Given the description of an element on the screen output the (x, y) to click on. 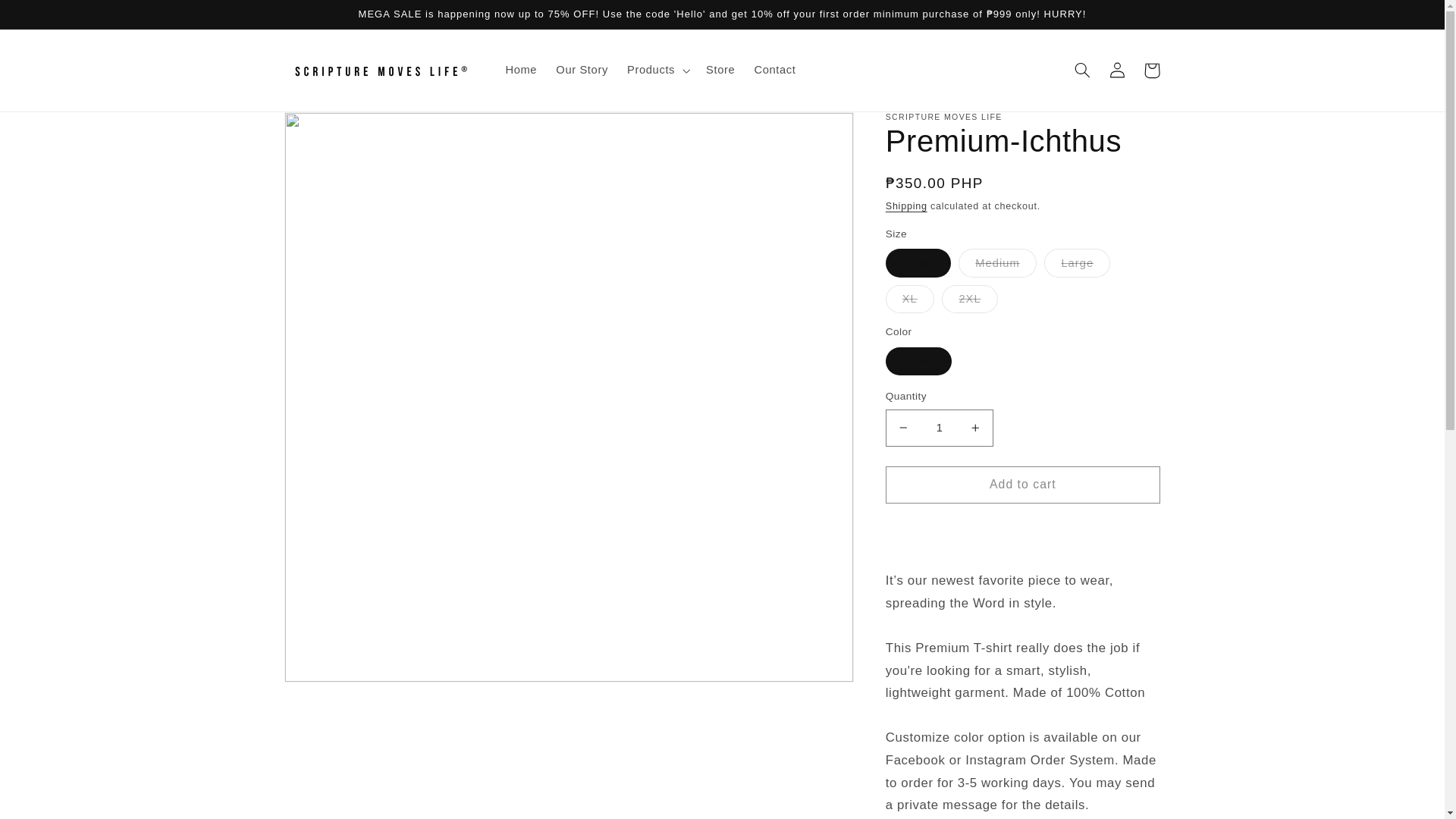
Skip to content (48, 18)
1 (939, 427)
Our Story (582, 70)
Home (521, 70)
